Given the description of an element on the screen output the (x, y) to click on. 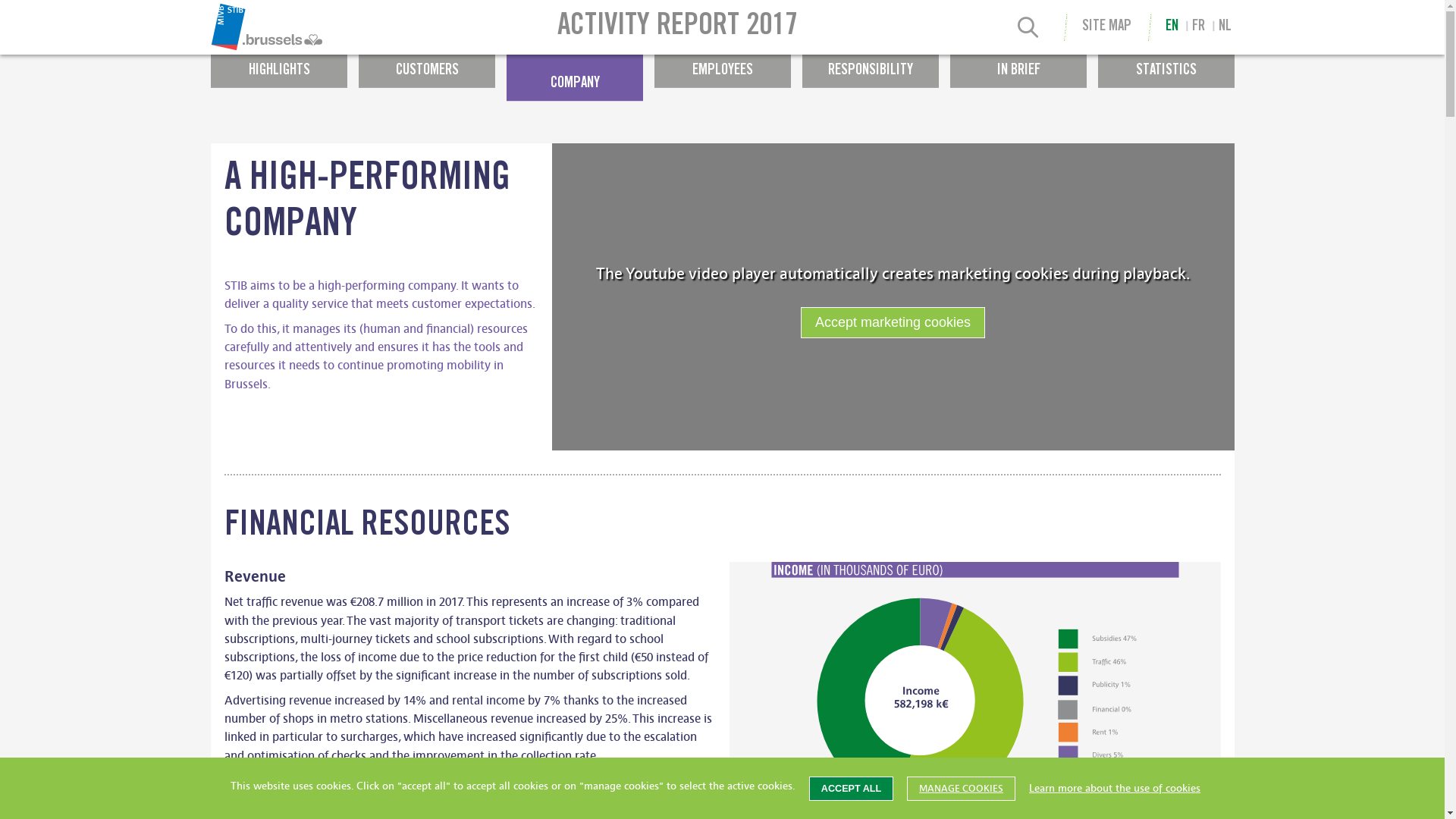
NL Element type: text (1224, 26)
EN Element type: text (1172, 26)
Learn more about the use of cookies Element type: text (1114, 787)
FR Element type: text (1198, 26)
STATISTICS Element type: text (1166, 63)
MANAGE COOKIES Element type: text (960, 788)
Year of diversity Element type: text (623, 19)
Search Element type: hover (1028, 29)
CUSTOMERS Element type: text (425, 63)
COMPANY Element type: text (574, 76)
Accept marketing cookies Element type: text (892, 322)
HIGHLIGHTS Element type: text (278, 63)
ACCEPT ALL Element type: text (851, 788)
IN BRIEF Element type: text (1017, 63)
EMPLOYEES Element type: text (721, 63)
RESPONSIBILITY Element type: text (870, 63)
